Given the description of an element on the screen output the (x, y) to click on. 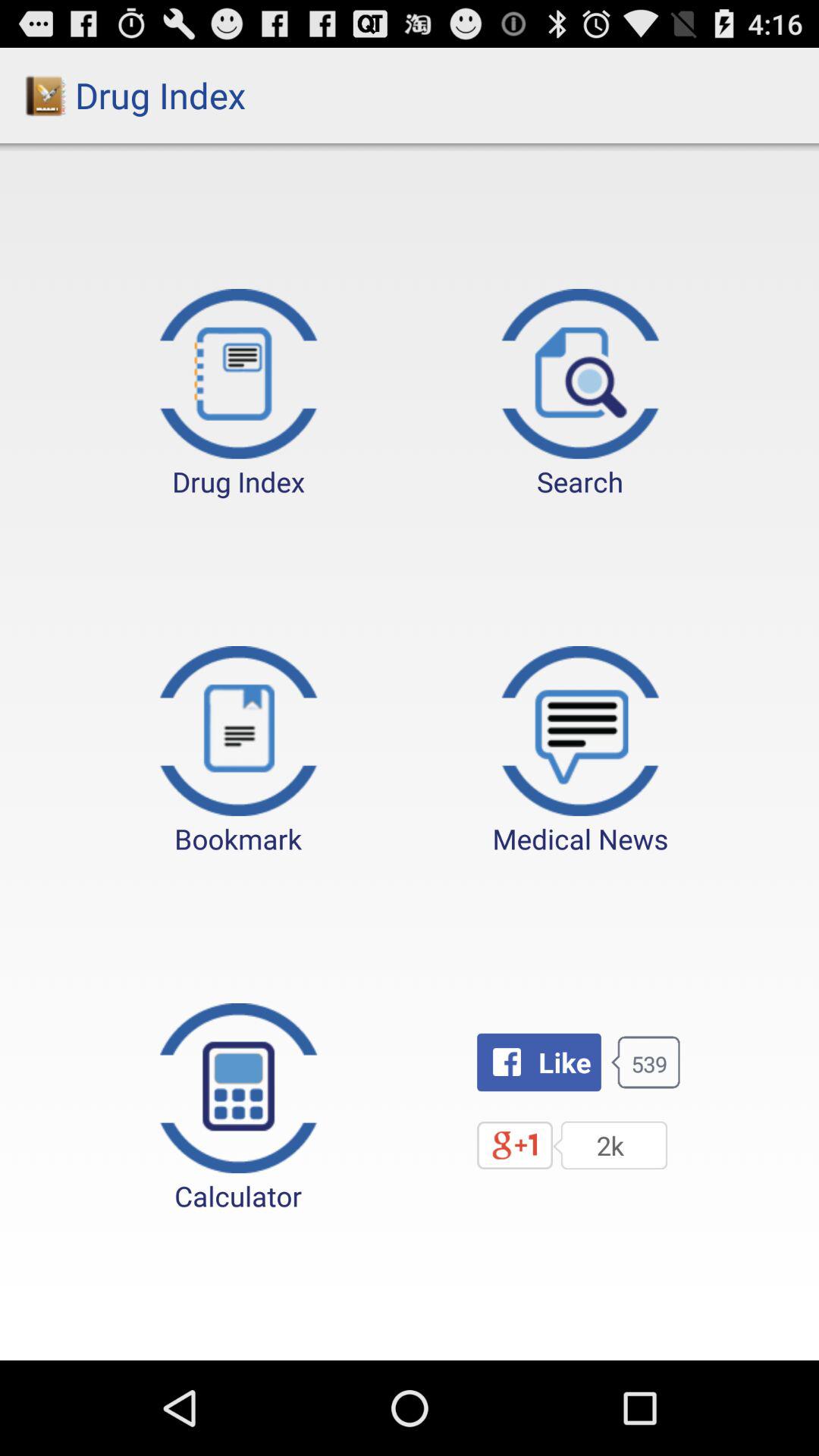
flip to medical news (580, 751)
